Given the description of an element on the screen output the (x, y) to click on. 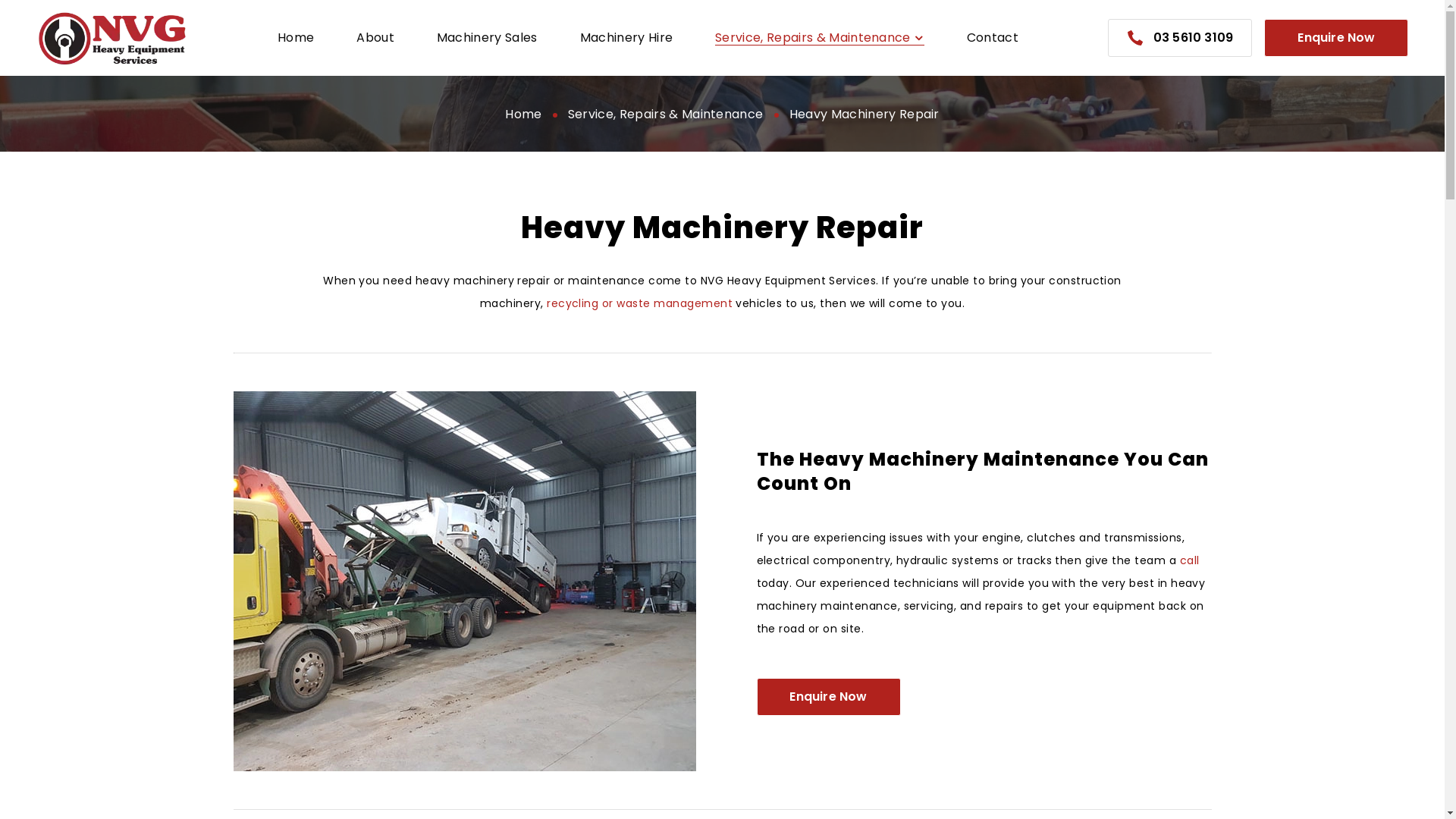
Service, Repairs & Maintenance Element type: text (665, 113)
call Element type: text (1189, 560)
Enquire Now Element type: text (1336, 37)
Home Element type: text (295, 37)
logo Element type: hover (112, 37)
03 5610 3109 Element type: text (1179, 37)
recycling or waste management Element type: text (639, 302)
Machinery Sales Element type: text (486, 37)
Enquire Now Element type: text (828, 696)
Service, Repairs & Maintenance Element type: text (819, 37)
Machinery Hire Element type: text (626, 37)
inner-banner Element type: hover (722, 113)
About Element type: text (375, 37)
Home Element type: text (523, 113)
call Element type: hover (1134, 37)
the-heavy-machinery-maintenance-you-can-count-on Element type: hover (464, 581)
Contact Element type: text (992, 37)
